Given the description of an element on the screen output the (x, y) to click on. 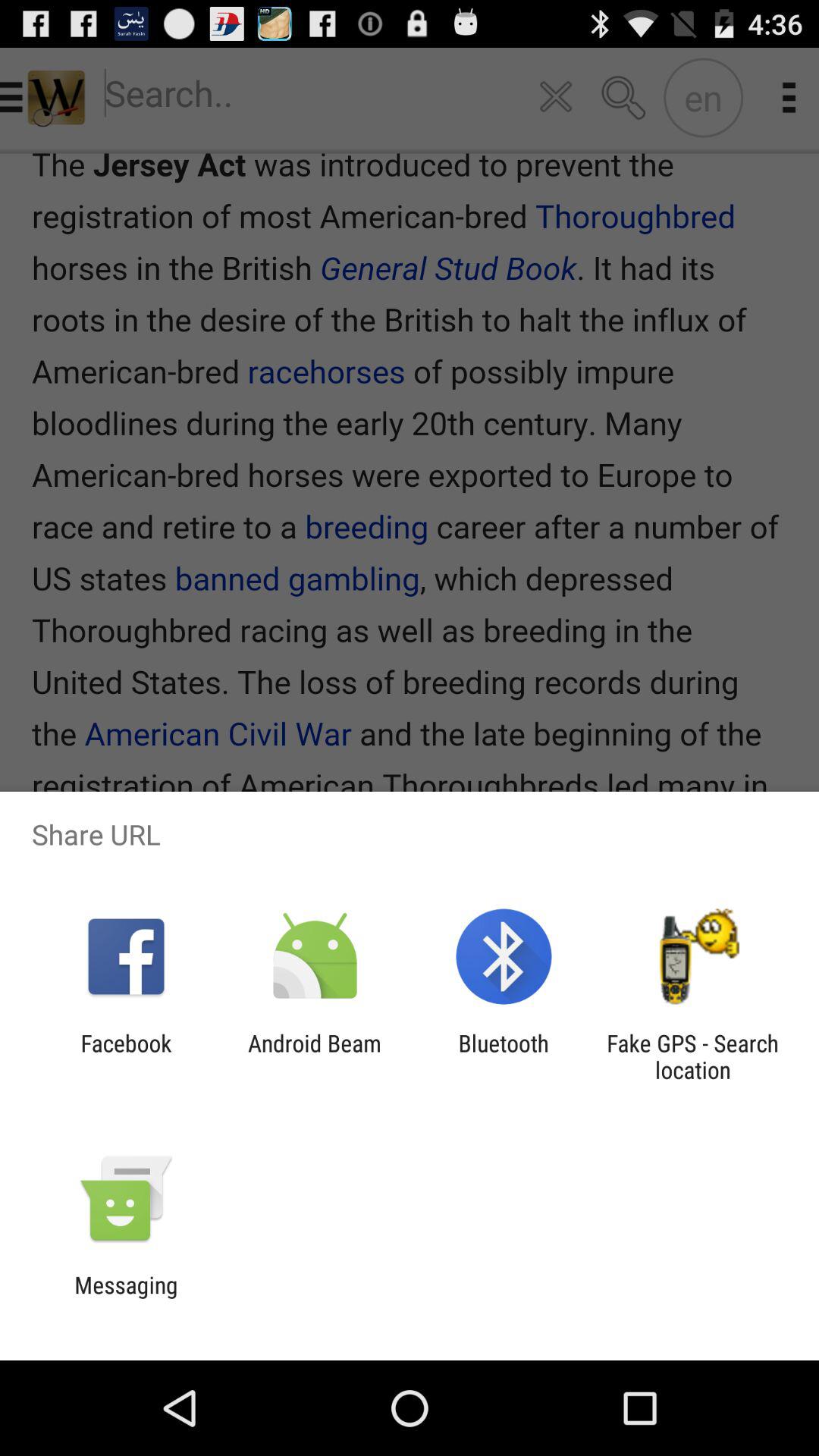
turn on the android beam app (314, 1056)
